Given the description of an element on the screen output the (x, y) to click on. 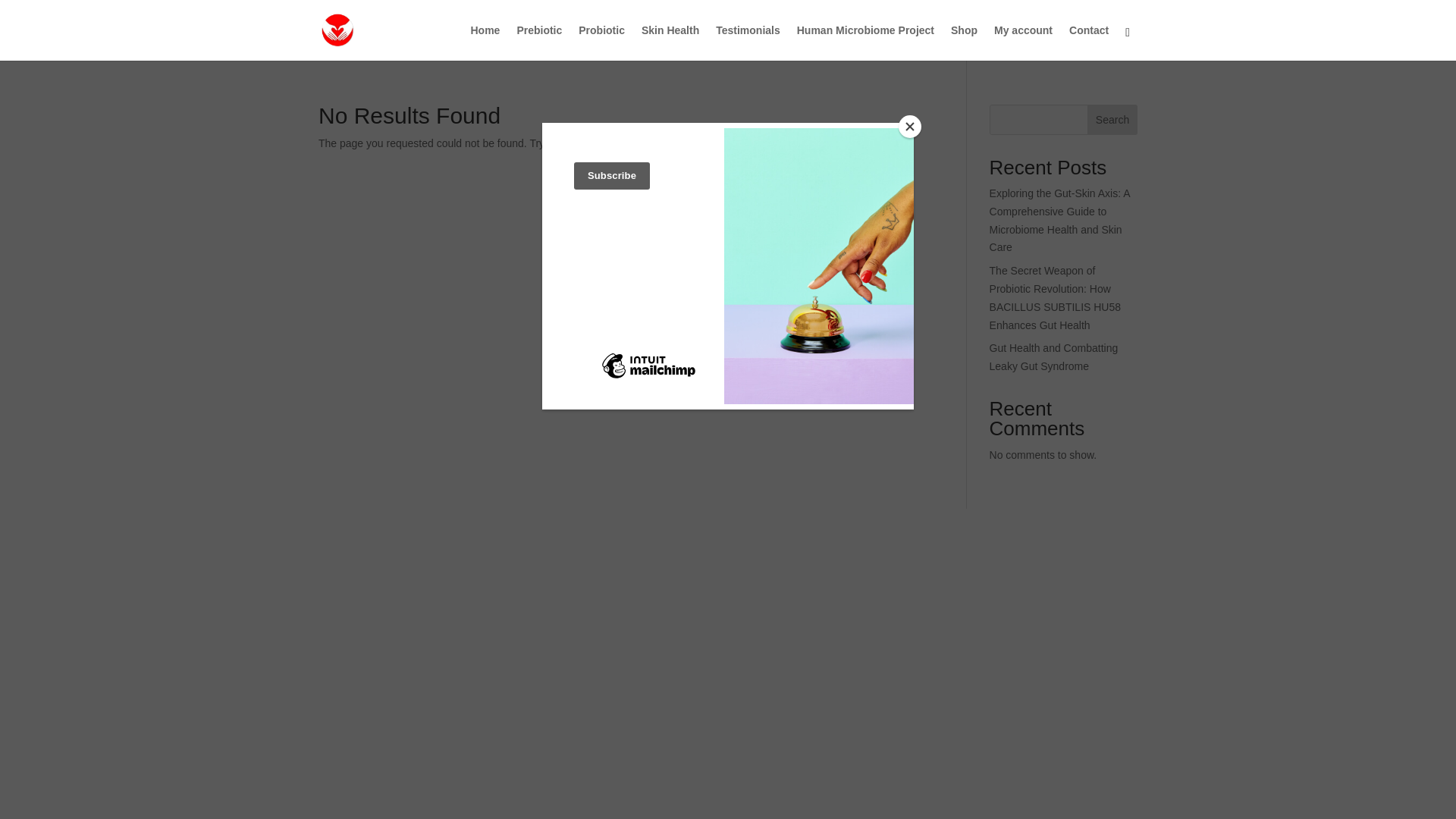
Prebiotic (539, 42)
Search (1112, 119)
Testimonials (748, 42)
Skin Health (670, 42)
Home (484, 42)
Probiotic (601, 42)
My account (1023, 42)
Contact (1088, 42)
Human Microbiome Project (865, 42)
Shop (963, 42)
Gut Health and Combatting Leaky Gut Syndrome (1054, 357)
